Given the description of an element on the screen output the (x, y) to click on. 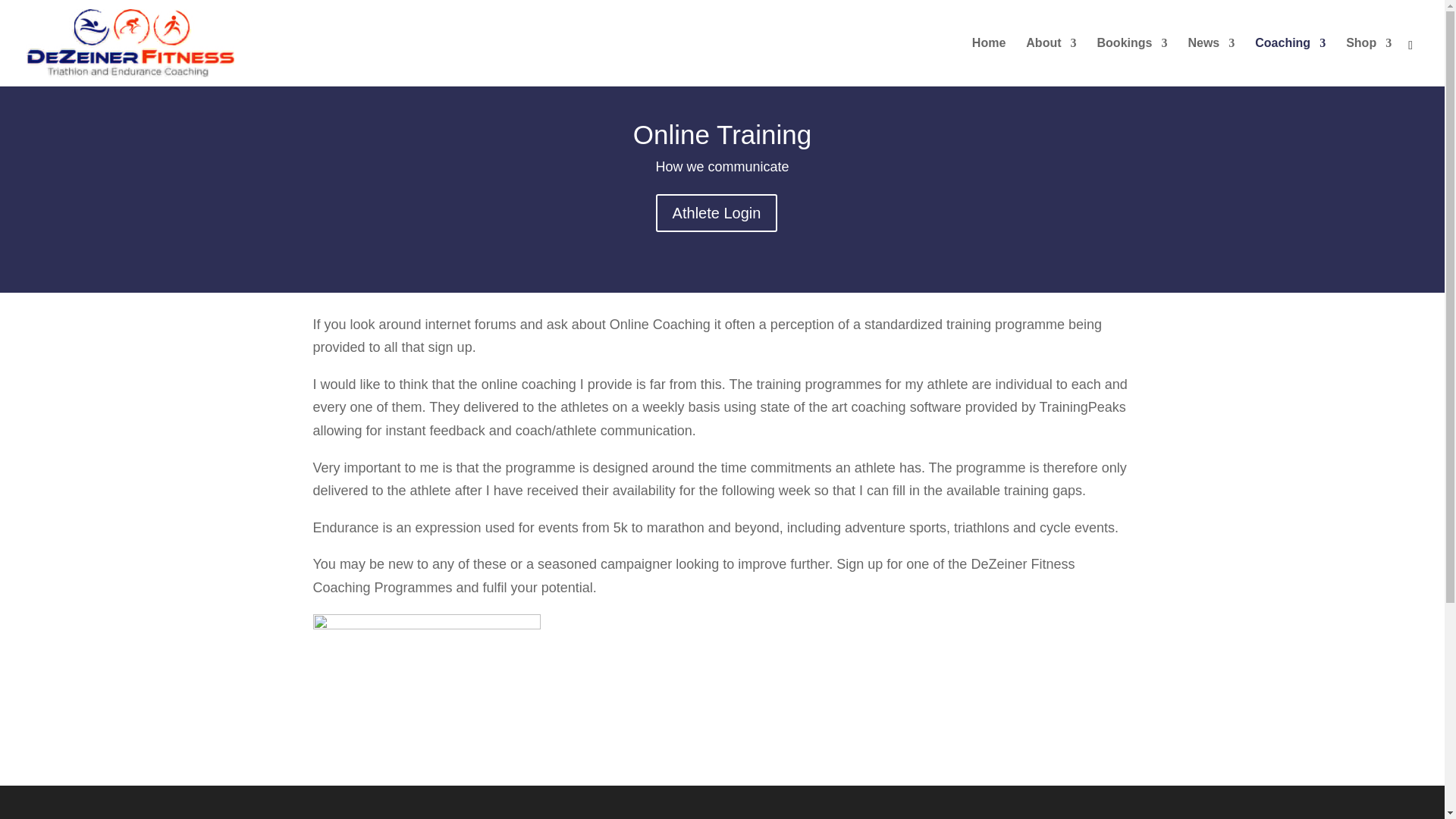
Shop (1368, 61)
Bookings (1132, 61)
Athlete Login (716, 212)
Coaching (1289, 61)
Swim (426, 688)
News (1211, 61)
About (1050, 61)
